Given the description of an element on the screen output the (x, y) to click on. 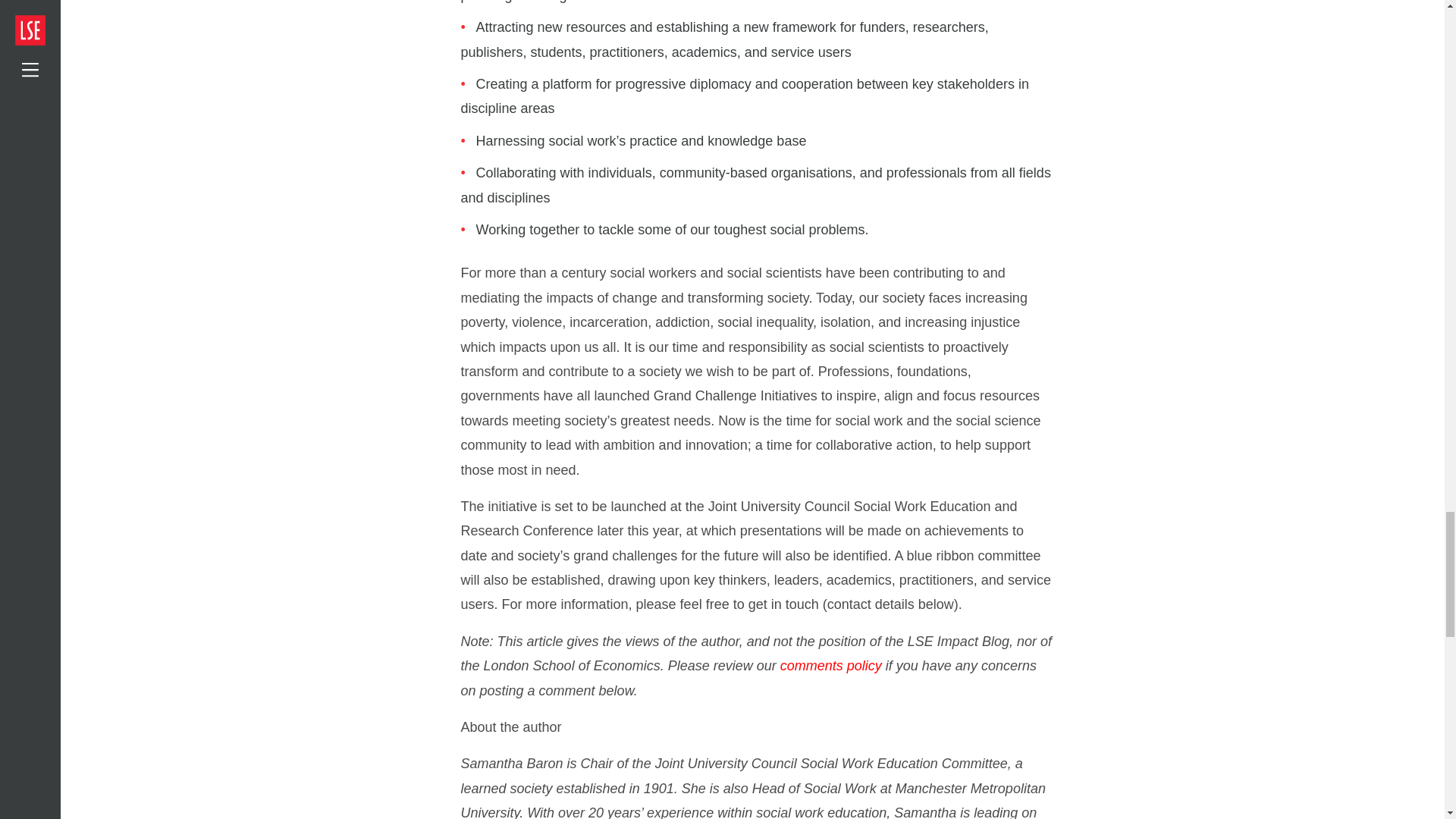
comments policy (831, 665)
